Given the description of an element on the screen output the (x, y) to click on. 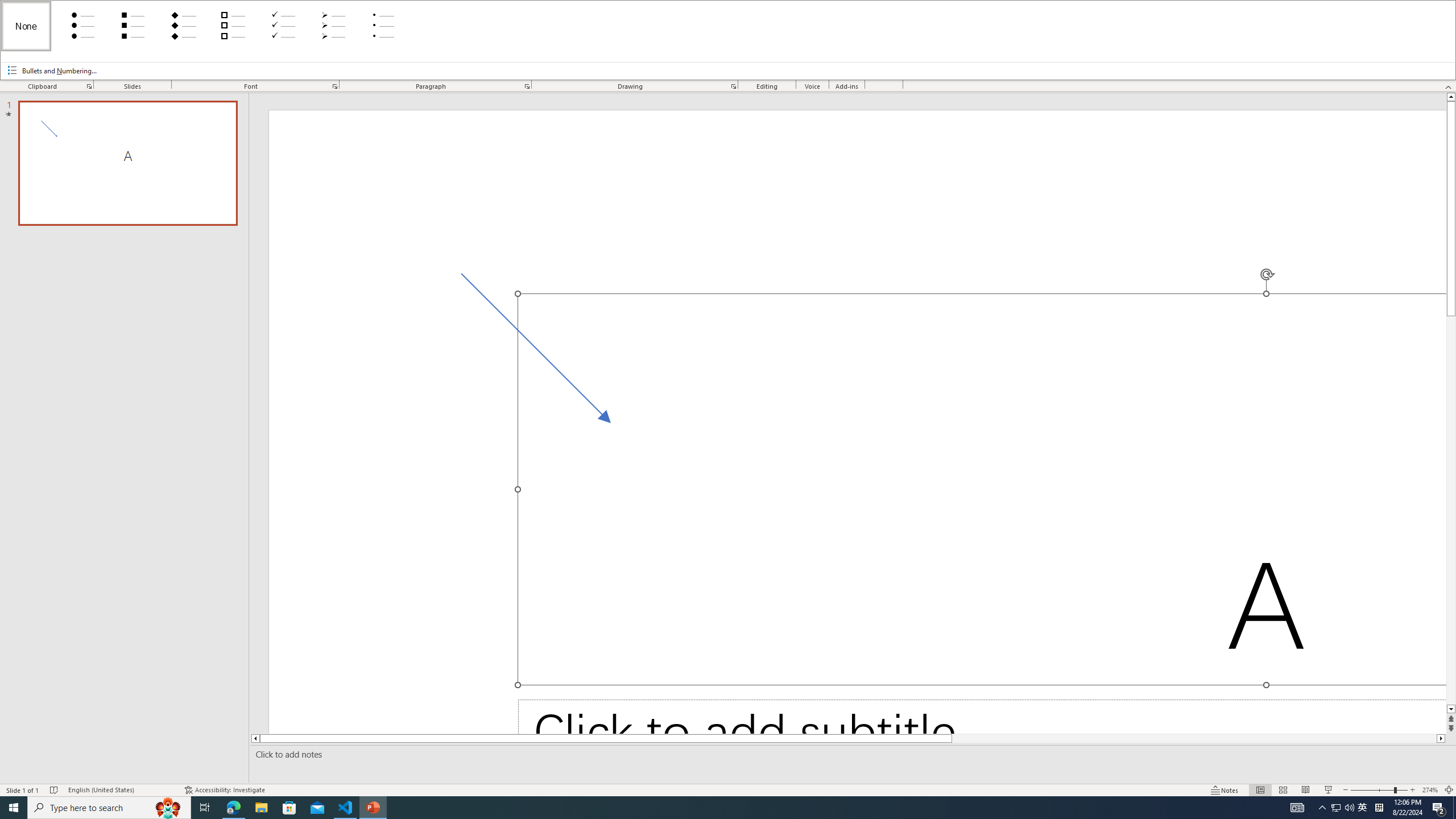
Slide A (127, 163)
